Given the description of an element on the screen output the (x, y) to click on. 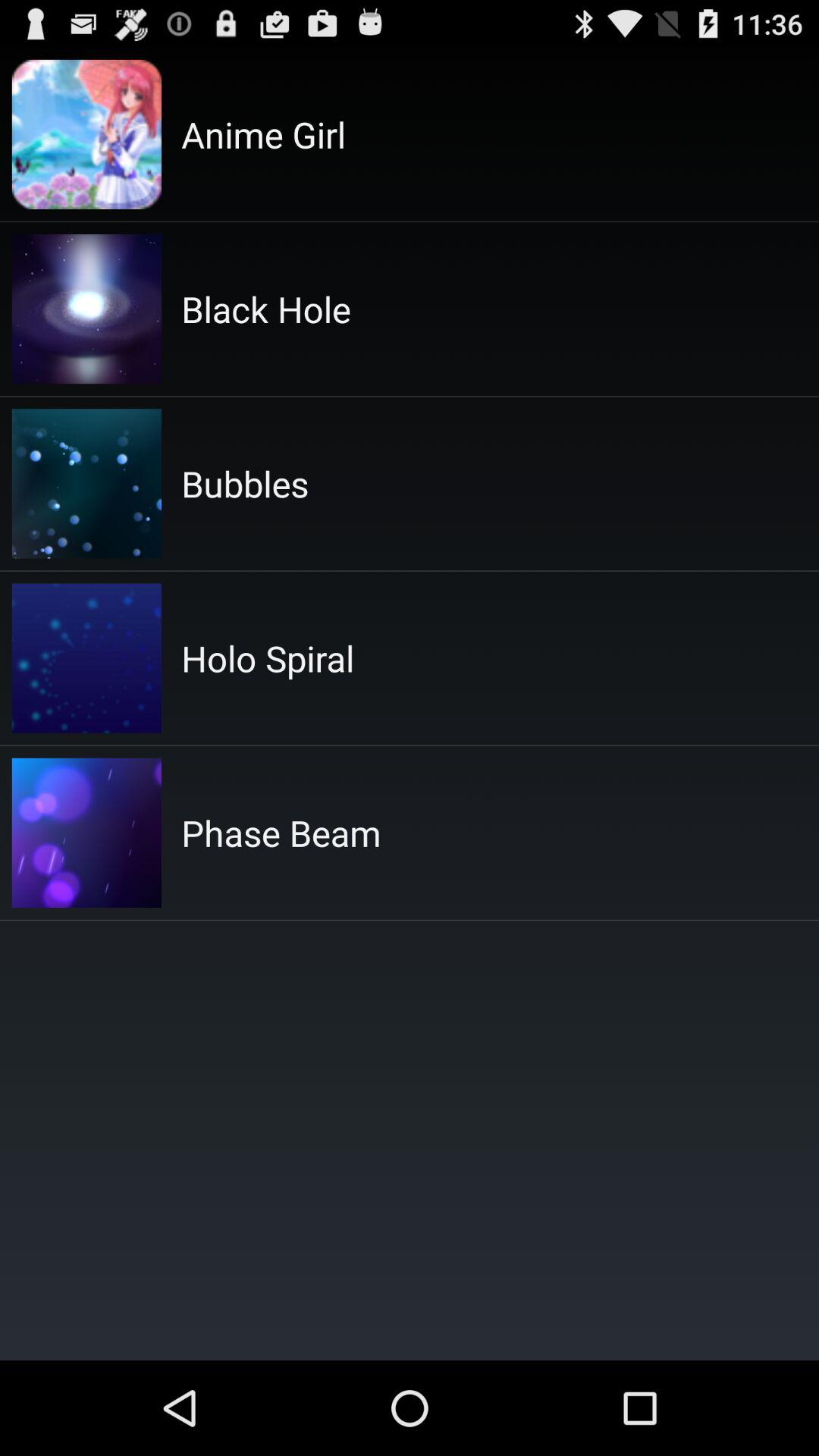
click the app at the center (281, 832)
